Given the description of an element on the screen output the (x, y) to click on. 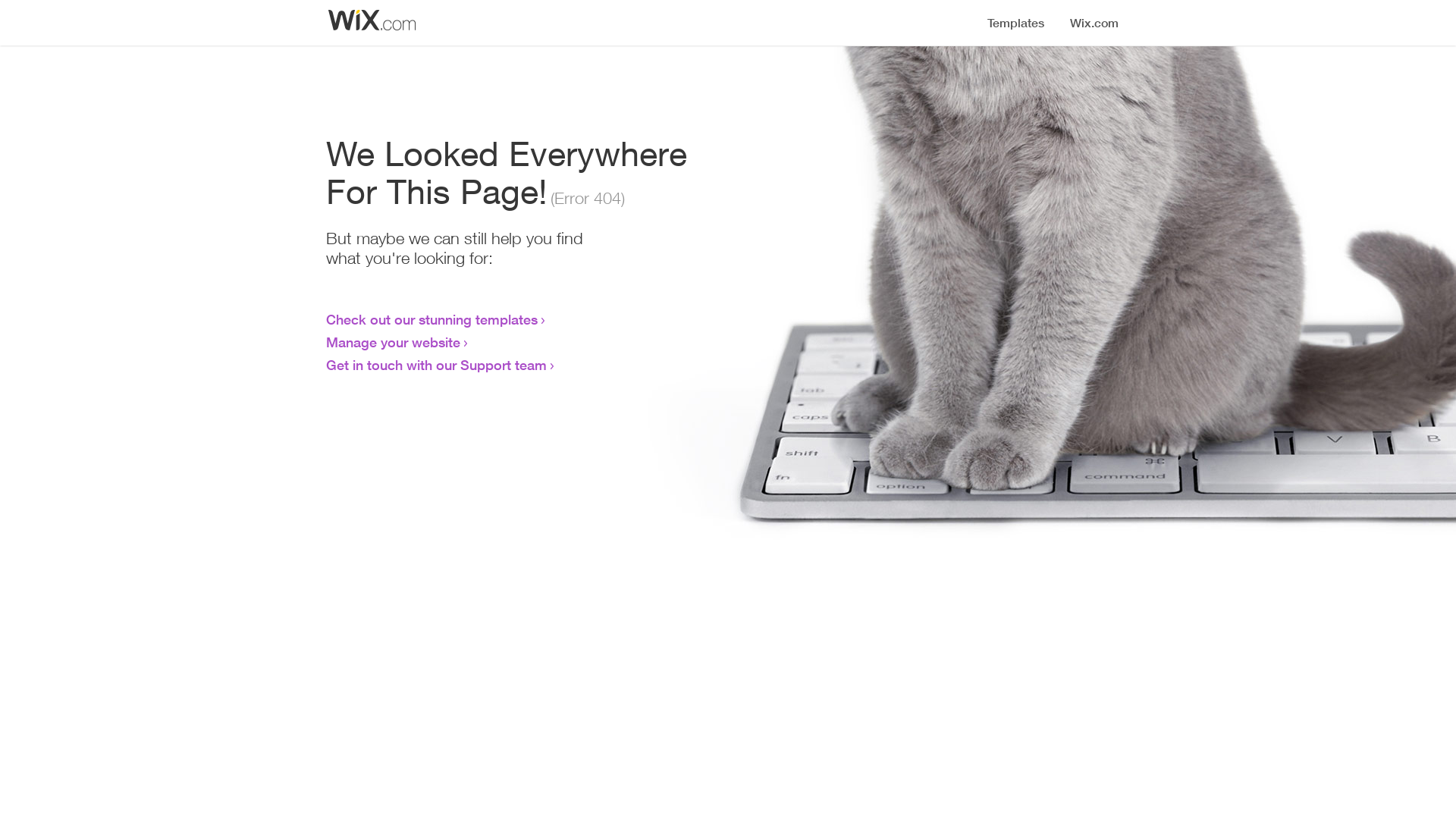
Manage your website Element type: text (393, 341)
Get in touch with our Support team Element type: text (436, 364)
Check out our stunning templates Element type: text (431, 318)
